Given the description of an element on the screen output the (x, y) to click on. 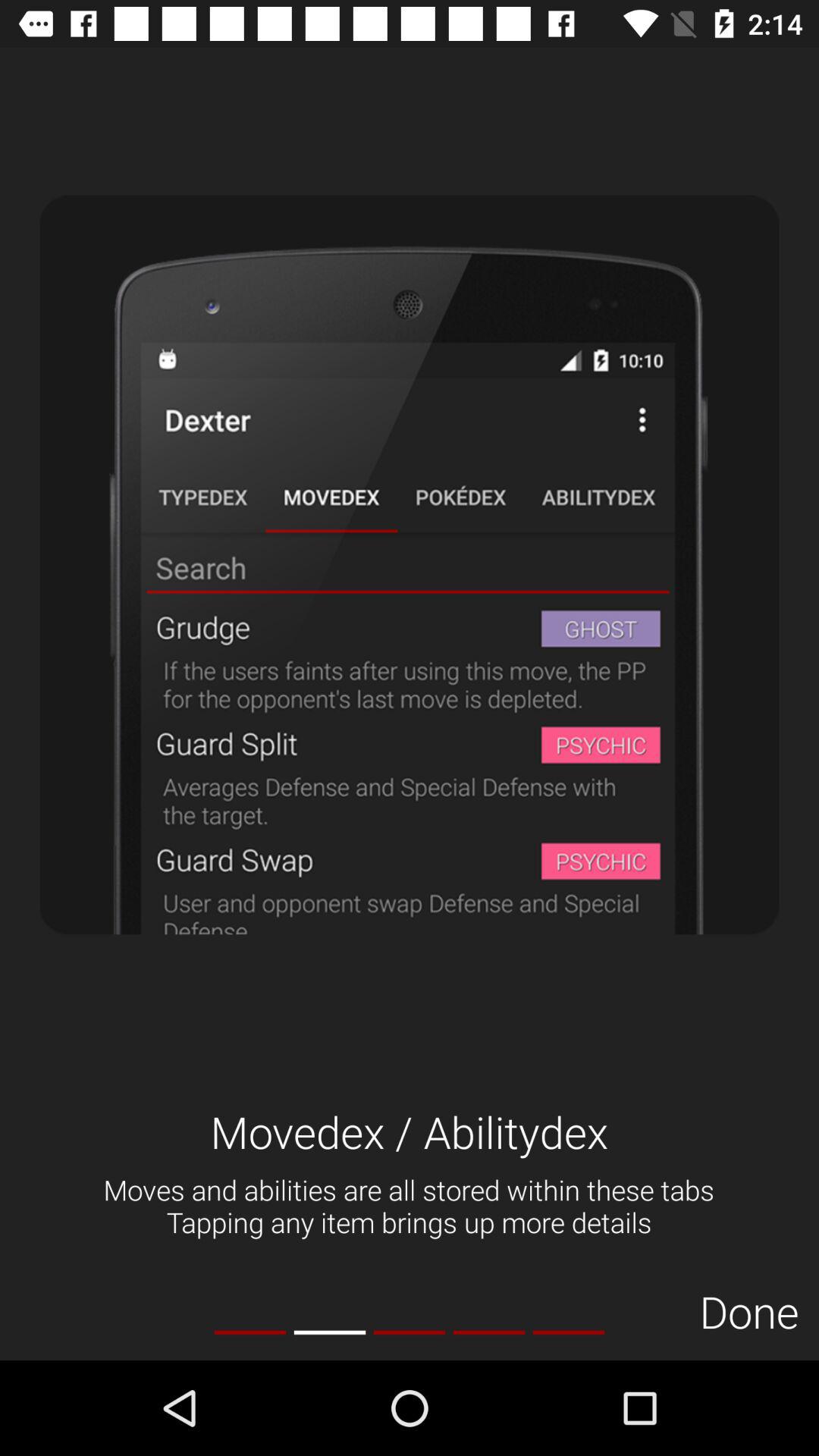
turn on the item below moves and abilities (329, 1332)
